Given the description of an element on the screen output the (x, y) to click on. 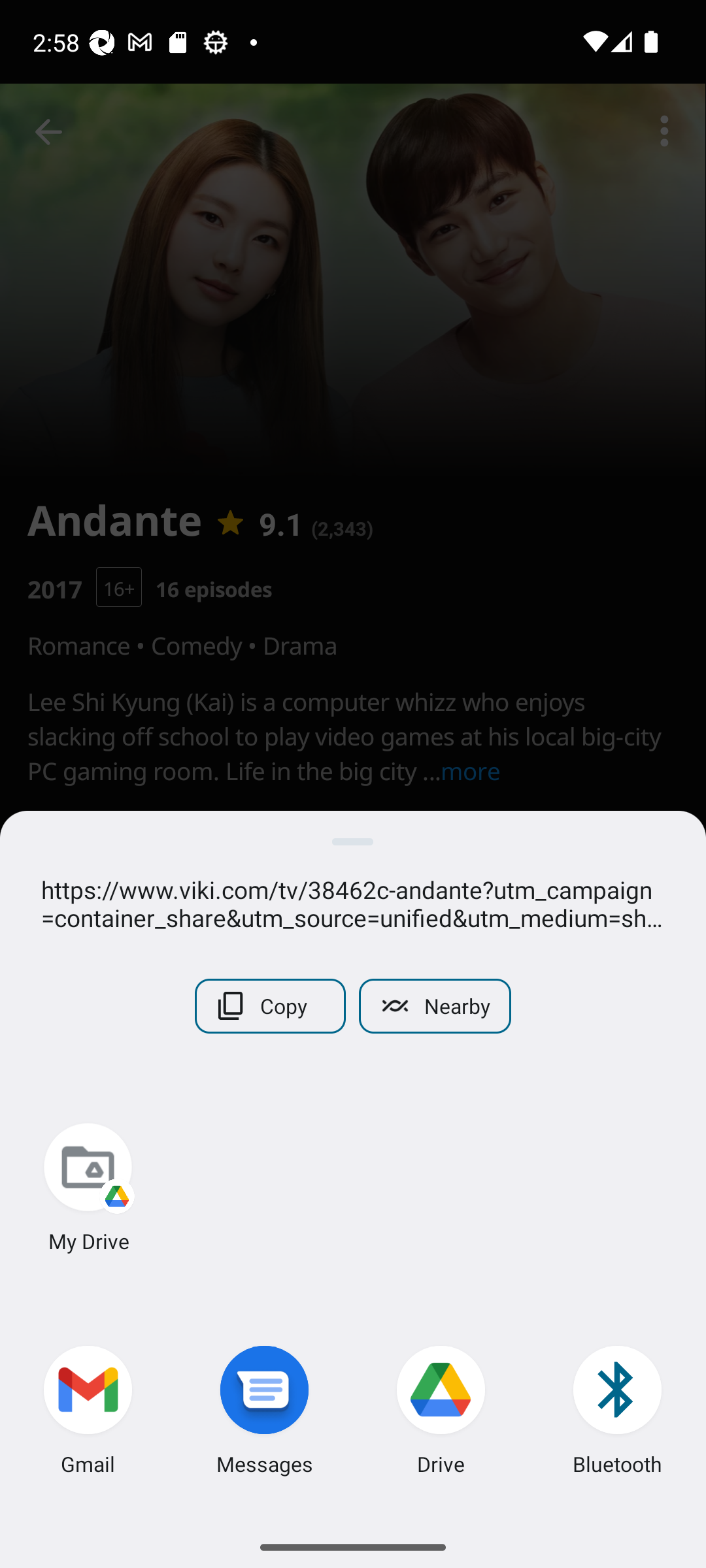
Copy (269, 1005)
Nearby (434, 1005)
My Drive  Drive My Drive (88, 1189)
Gmail (88, 1414)
Messages (264, 1414)
Drive (441, 1414)
Bluetooth (617, 1414)
